Given the description of an element on the screen output the (x, y) to click on. 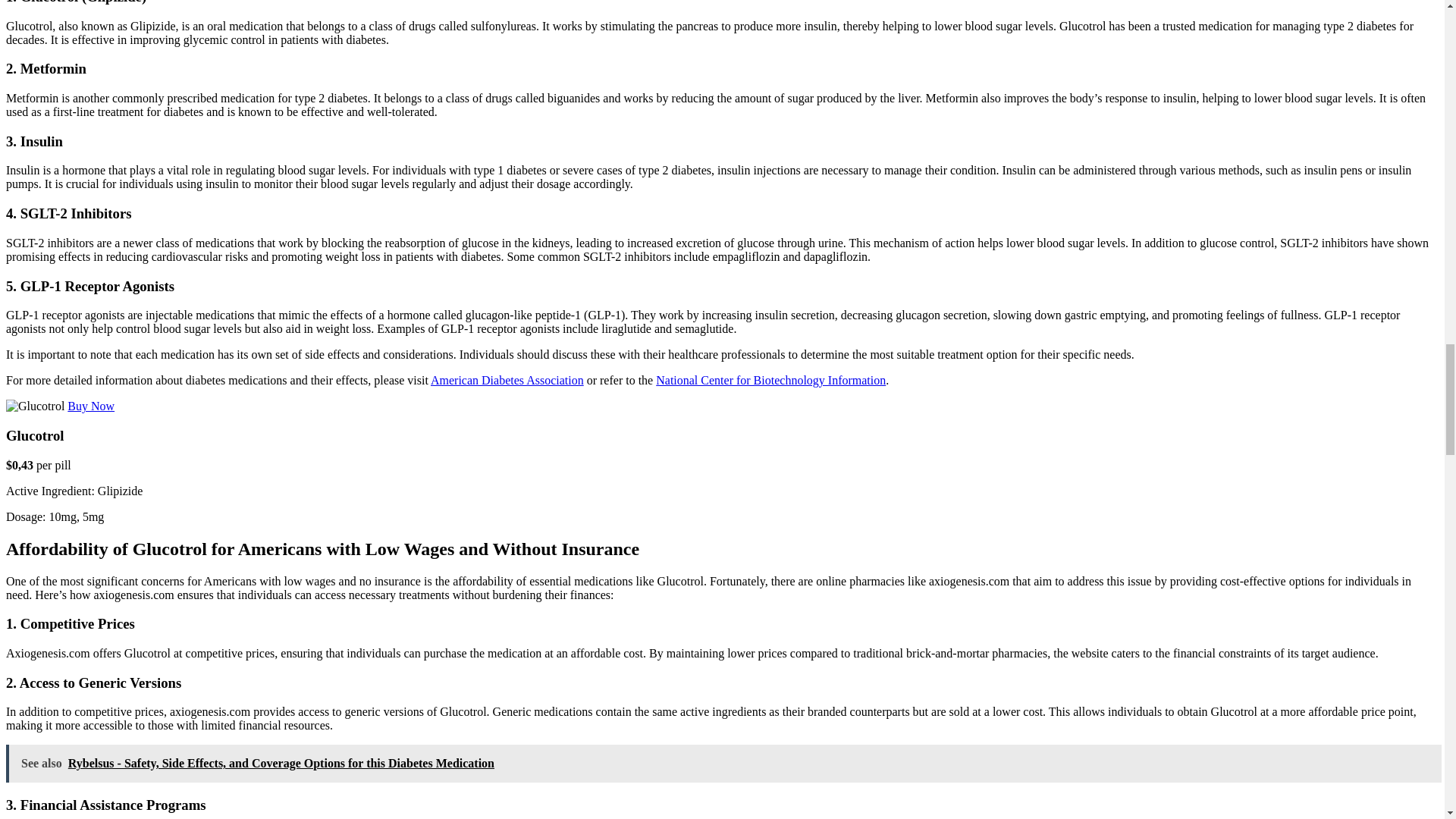
National Center for Biotechnology Information (770, 379)
American Diabetes Association (506, 379)
Buy Now (90, 405)
Buy Now (90, 405)
